Given the description of an element on the screen output the (x, y) to click on. 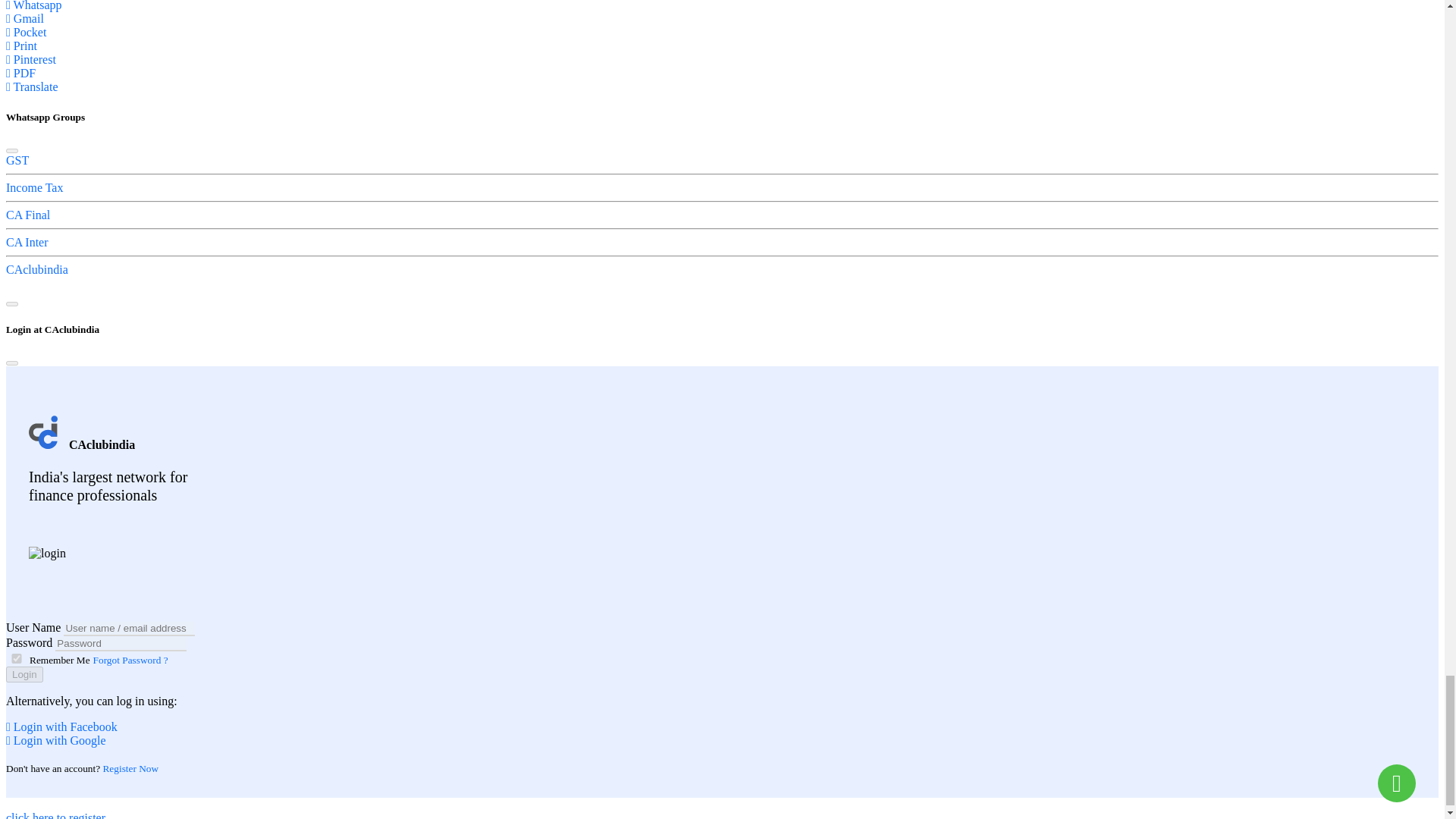
Login (24, 674)
1 (16, 658)
